Given the description of an element on the screen output the (x, y) to click on. 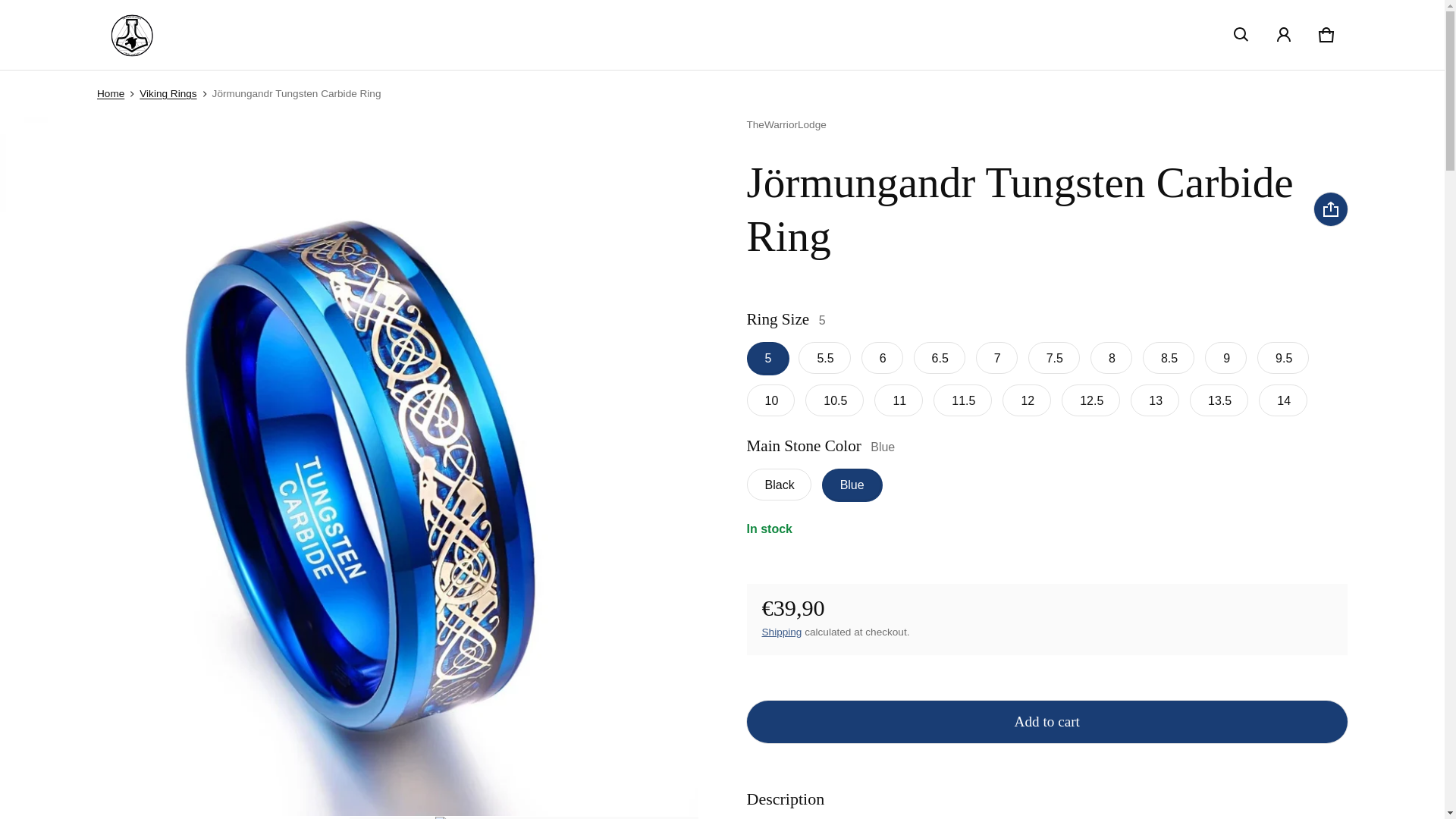
Viking Rings (167, 93)
Shipping (1326, 34)
5 (781, 632)
